Given the description of an element on the screen output the (x, y) to click on. 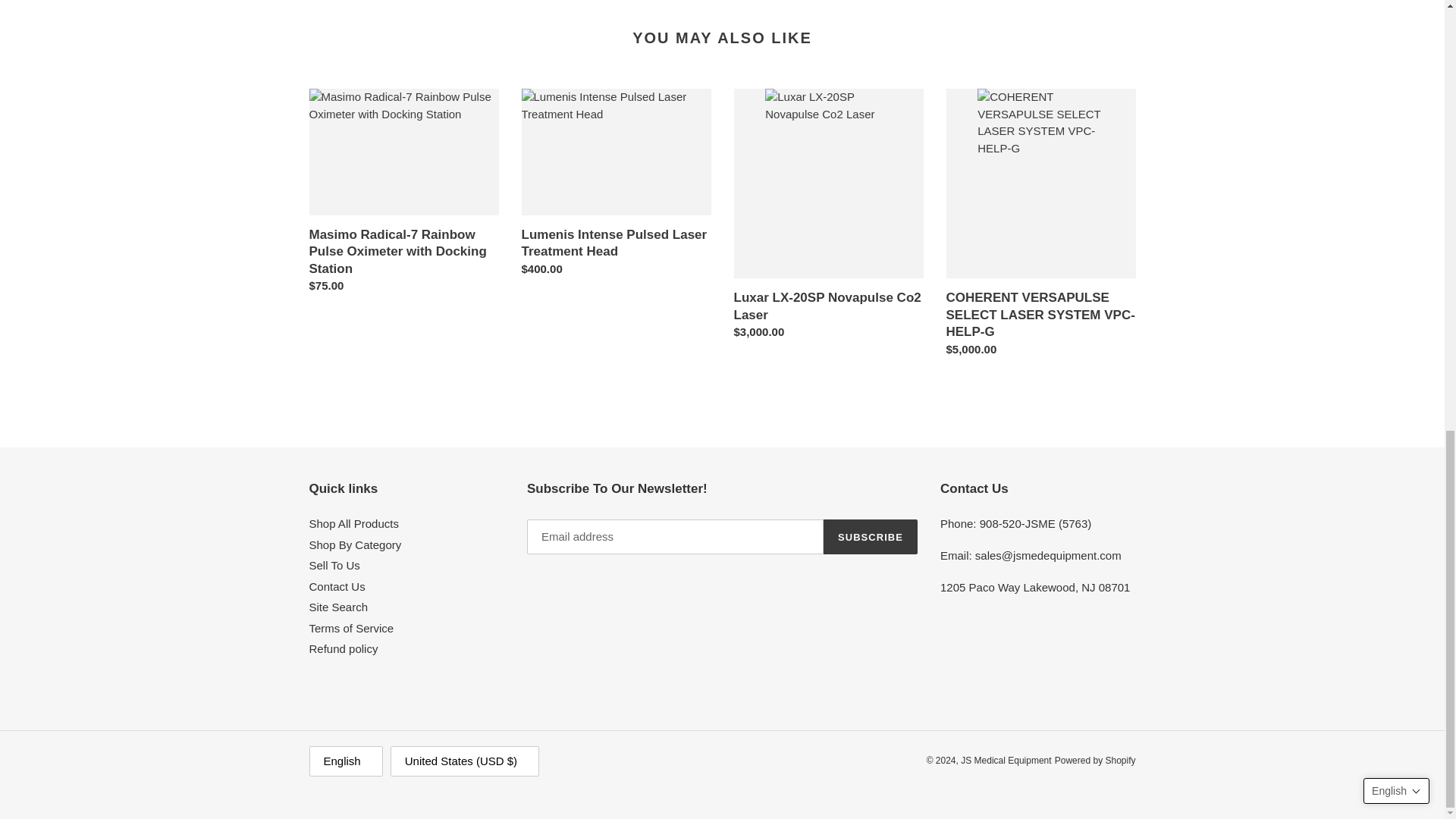
Lumenis Intense Pulsed Laser Treatment Head (616, 185)
Masimo Radical-7 Rainbow Pulse Oximeter with Docking Station (403, 194)
